Given the description of an element on the screen output the (x, y) to click on. 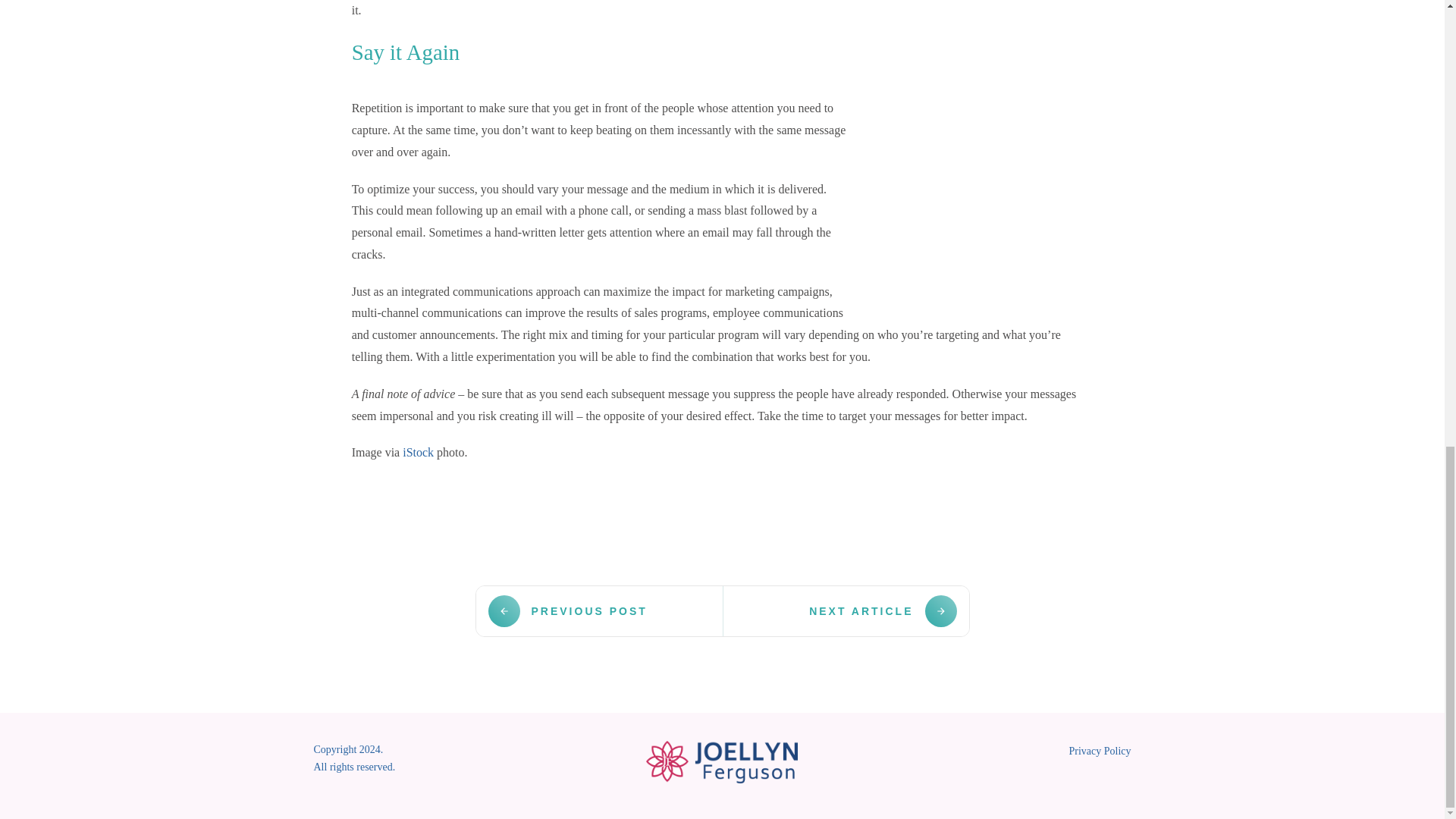
iStock (418, 451)
Joellyn Ferguson logo (721, 761)
NEXT ARTICLE (882, 611)
PREVIOUS POST (567, 611)
Privacy Policy (1099, 750)
